Given the description of an element on the screen output the (x, y) to click on. 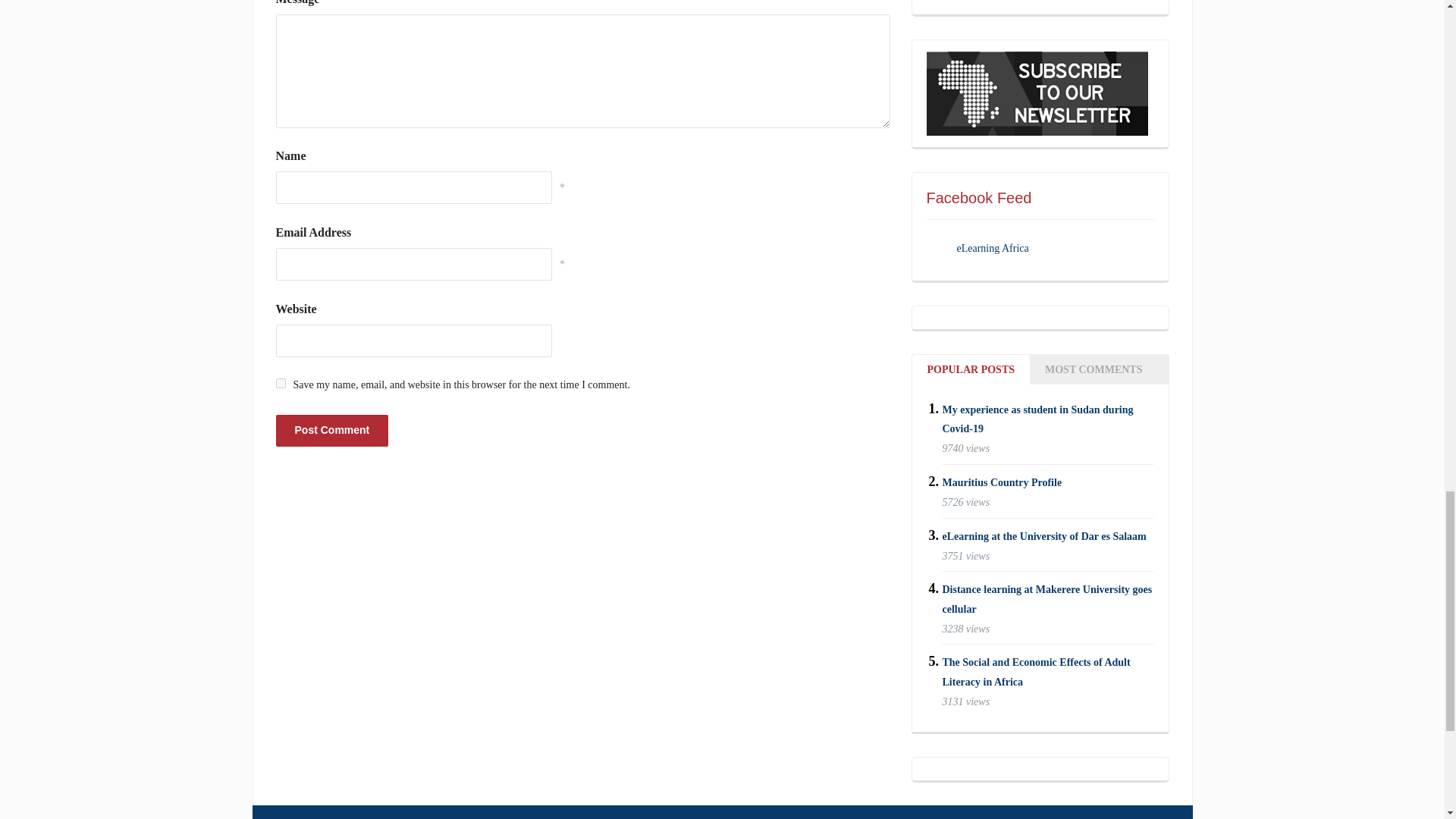
Most Comments (1093, 369)
Post Comment (332, 429)
Permanent Link to Mauritius Country Profile (1001, 482)
Popular Posts (970, 369)
Post Comment (332, 429)
yes (280, 383)
